Given the description of an element on the screen output the (x, y) to click on. 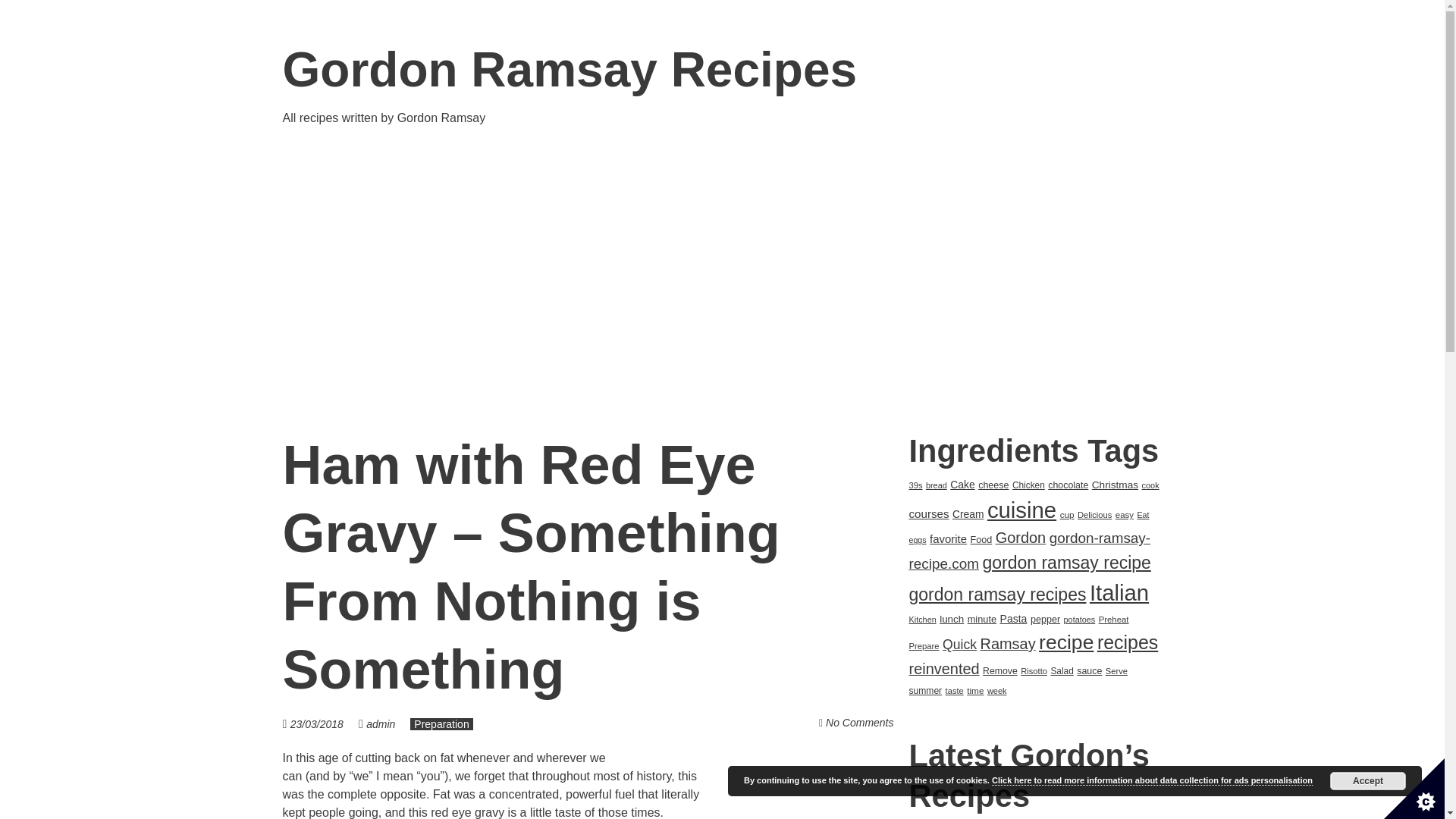
admin (380, 724)
No Comments (859, 722)
Gordon Ramsay Recipes (569, 69)
Preparation (440, 724)
